Given the description of an element on the screen output the (x, y) to click on. 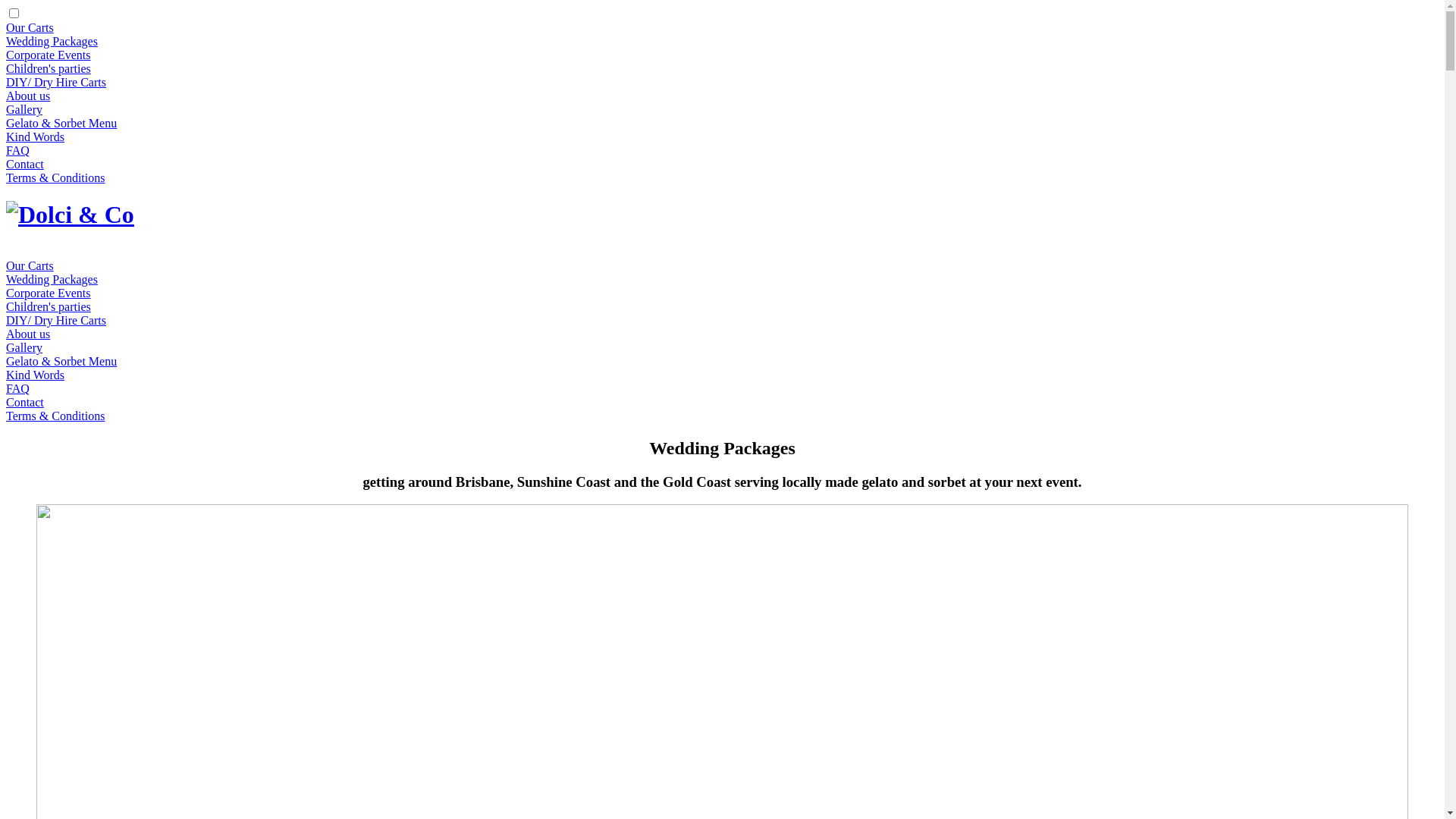
Children's parties Element type: text (48, 306)
Gelato & Sorbet Menu Element type: text (61, 122)
Contact Element type: text (24, 163)
Our Carts Element type: text (29, 265)
Corporate Events Element type: text (48, 54)
Children's parties Element type: text (48, 68)
Wedding Packages Element type: text (51, 40)
Terms & Conditions Element type: text (55, 177)
Gallery Element type: text (24, 109)
Our Carts Element type: text (29, 27)
Wedding Packages Element type: text (51, 279)
FAQ Element type: text (17, 150)
Gallery Element type: text (24, 347)
Contact Element type: text (24, 401)
FAQ Element type: text (17, 388)
Kind Words Element type: text (35, 374)
About us Element type: text (28, 333)
Terms & Conditions Element type: text (55, 415)
About us Element type: text (28, 95)
DIY/ Dry Hire Carts Element type: text (56, 81)
Gelato & Sorbet Menu Element type: text (61, 360)
Kind Words Element type: text (35, 136)
Corporate Events Element type: text (48, 292)
DIY/ Dry Hire Carts Element type: text (56, 319)
